Given the description of an element on the screen output the (x, y) to click on. 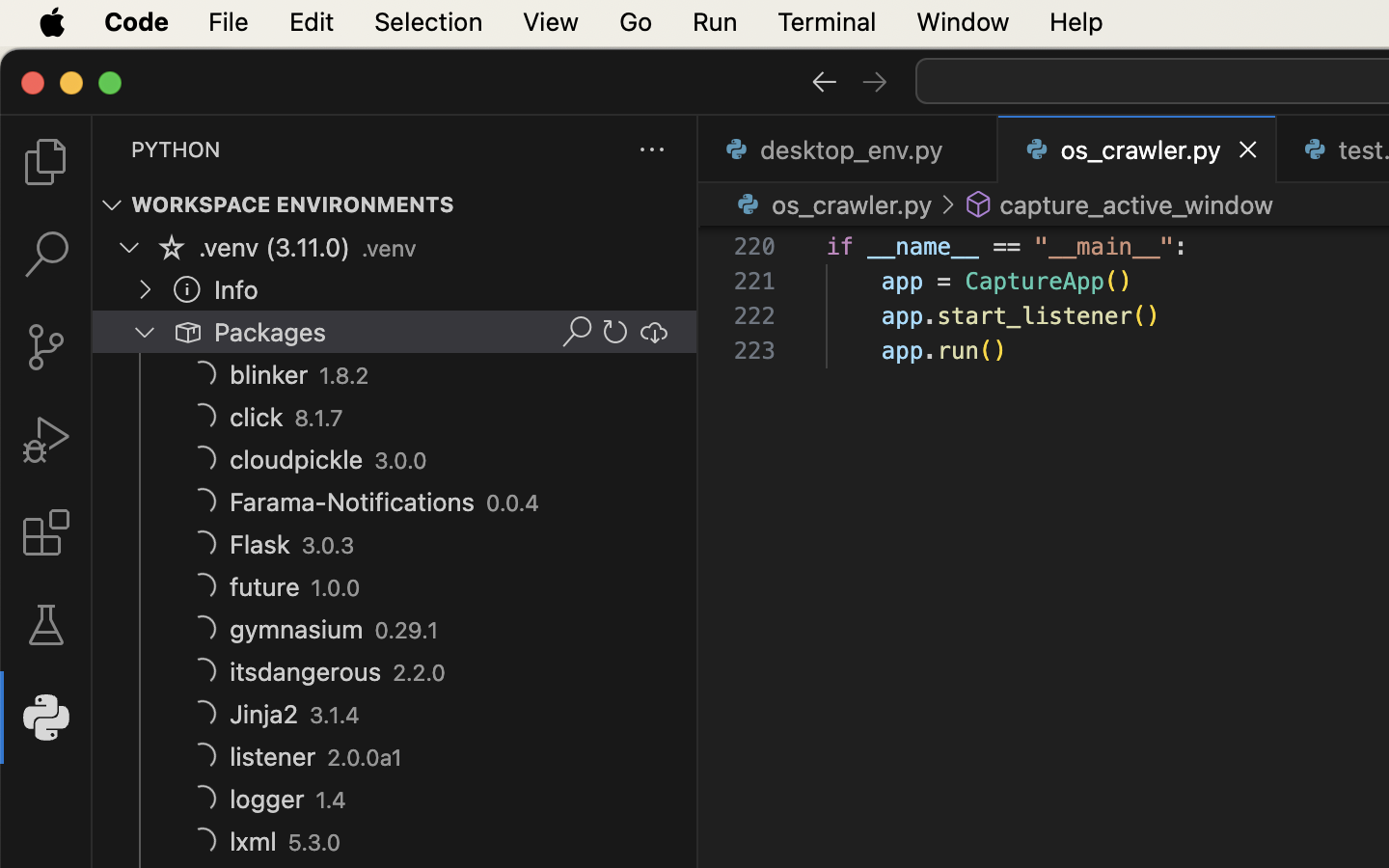
Farama-Notifications Element type: AXStaticText (352, 502)
 Element type: AXButton (824, 80)
0 desktop_env.py   Element type: AXRadioButton (848, 149)
 Element type: AXStaticText (111, 204)
3.1.4 Element type: AXStaticText (334, 715)
